Given the description of an element on the screen output the (x, y) to click on. 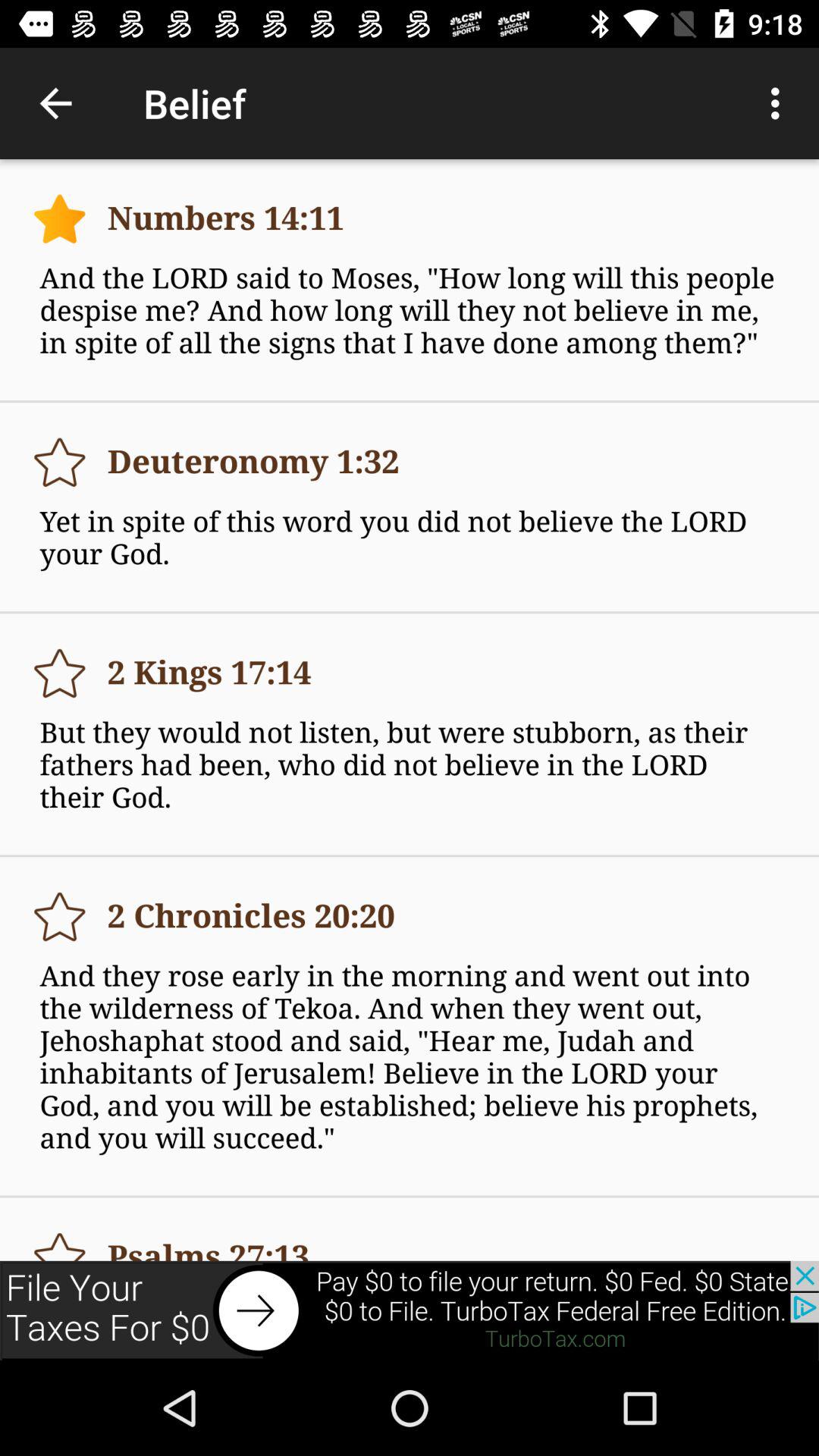
file (59, 1238)
